Given the description of an element on the screen output the (x, y) to click on. 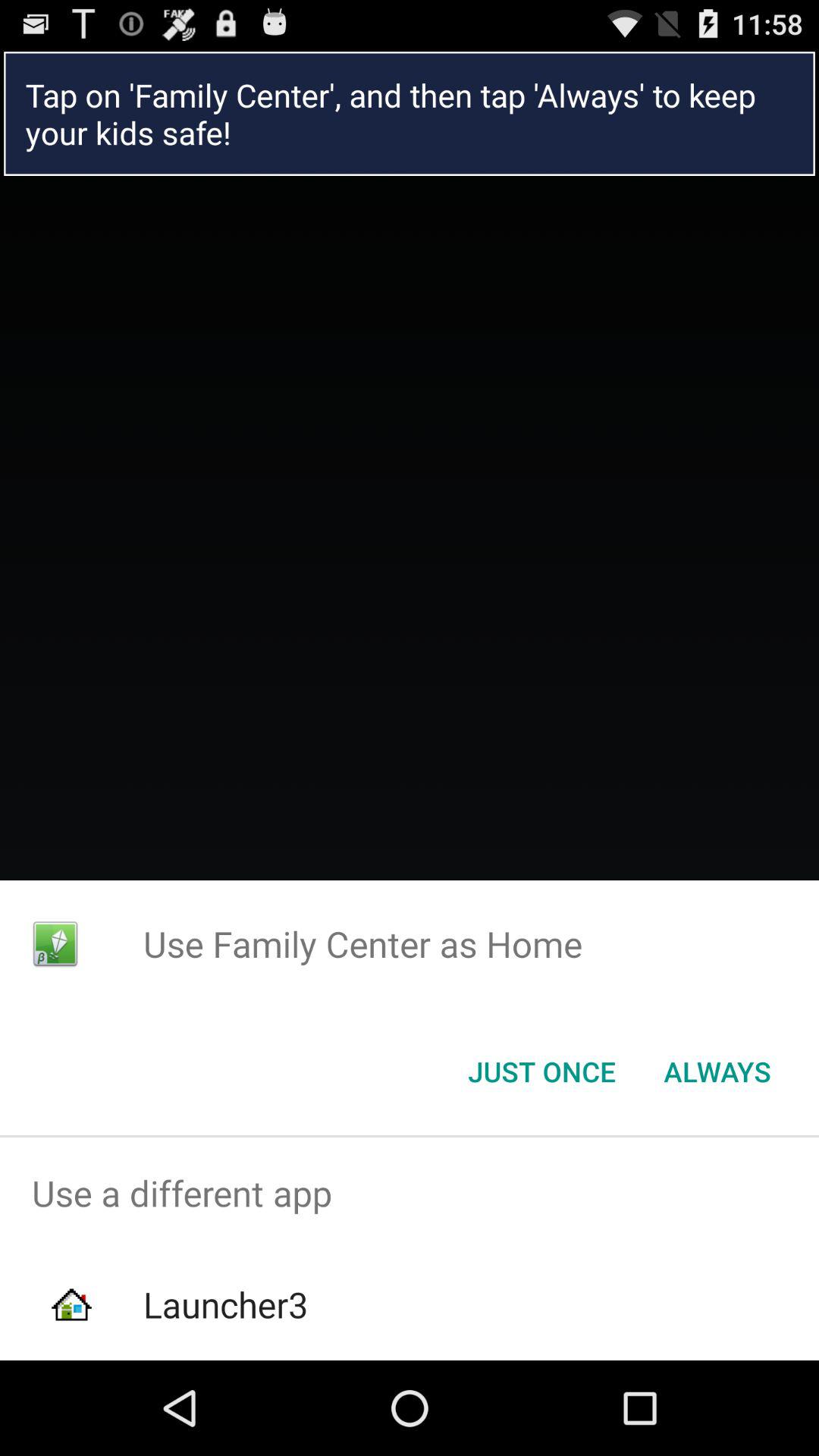
turn on the icon next to always (541, 1071)
